Given the description of an element on the screen output the (x, y) to click on. 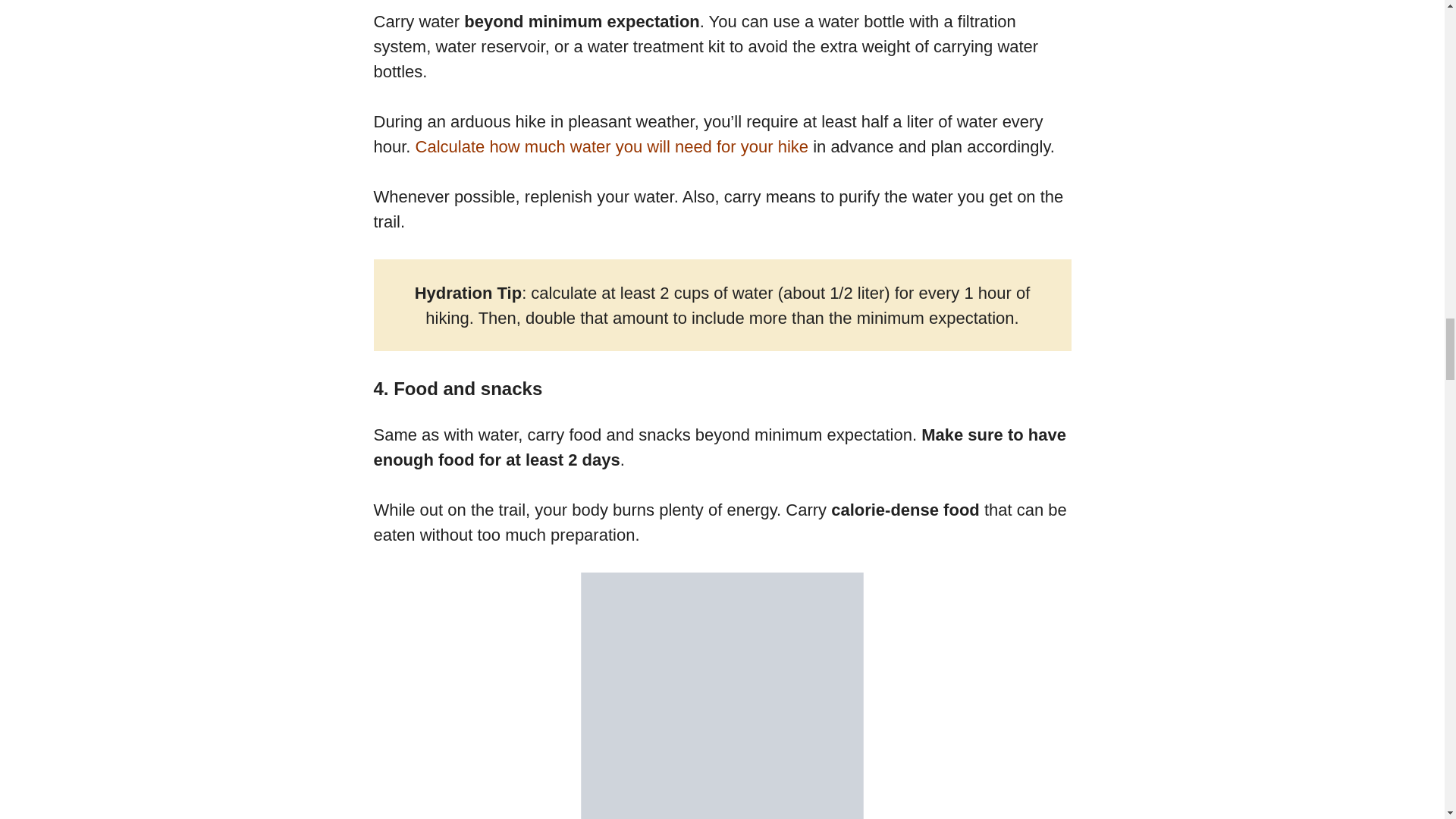
Calculate how much water you will need for your hike (611, 146)
